Given the description of an element on the screen output the (x, y) to click on. 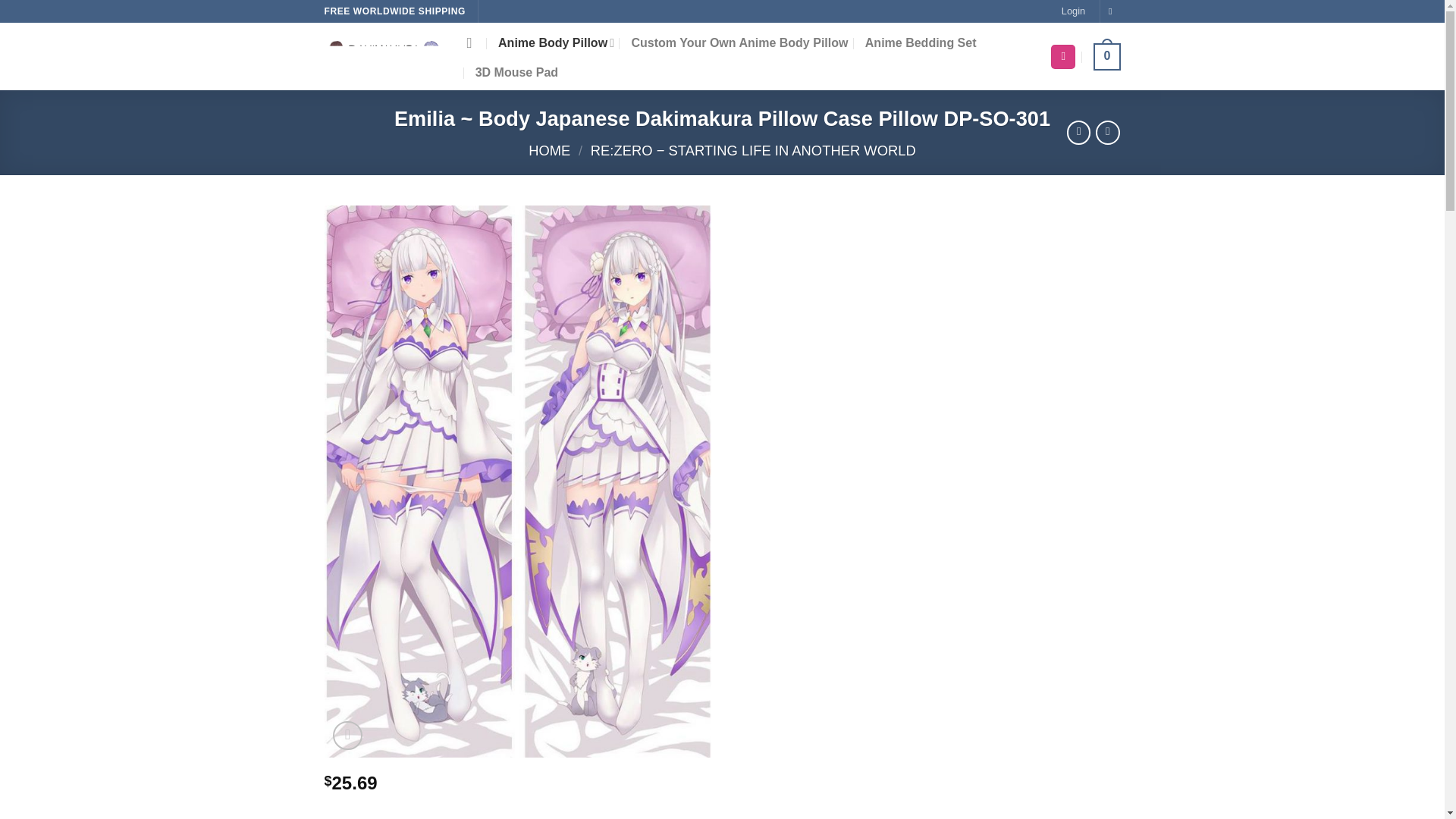
Zoom (347, 736)
3D Mouse Pad (516, 72)
Login (1072, 11)
Custom Your Own Anime Body Pillow (738, 42)
Anime Bedding Set (920, 42)
Anime Body Pillow (555, 42)
HOME (549, 150)
